Given the description of an element on the screen output the (x, y) to click on. 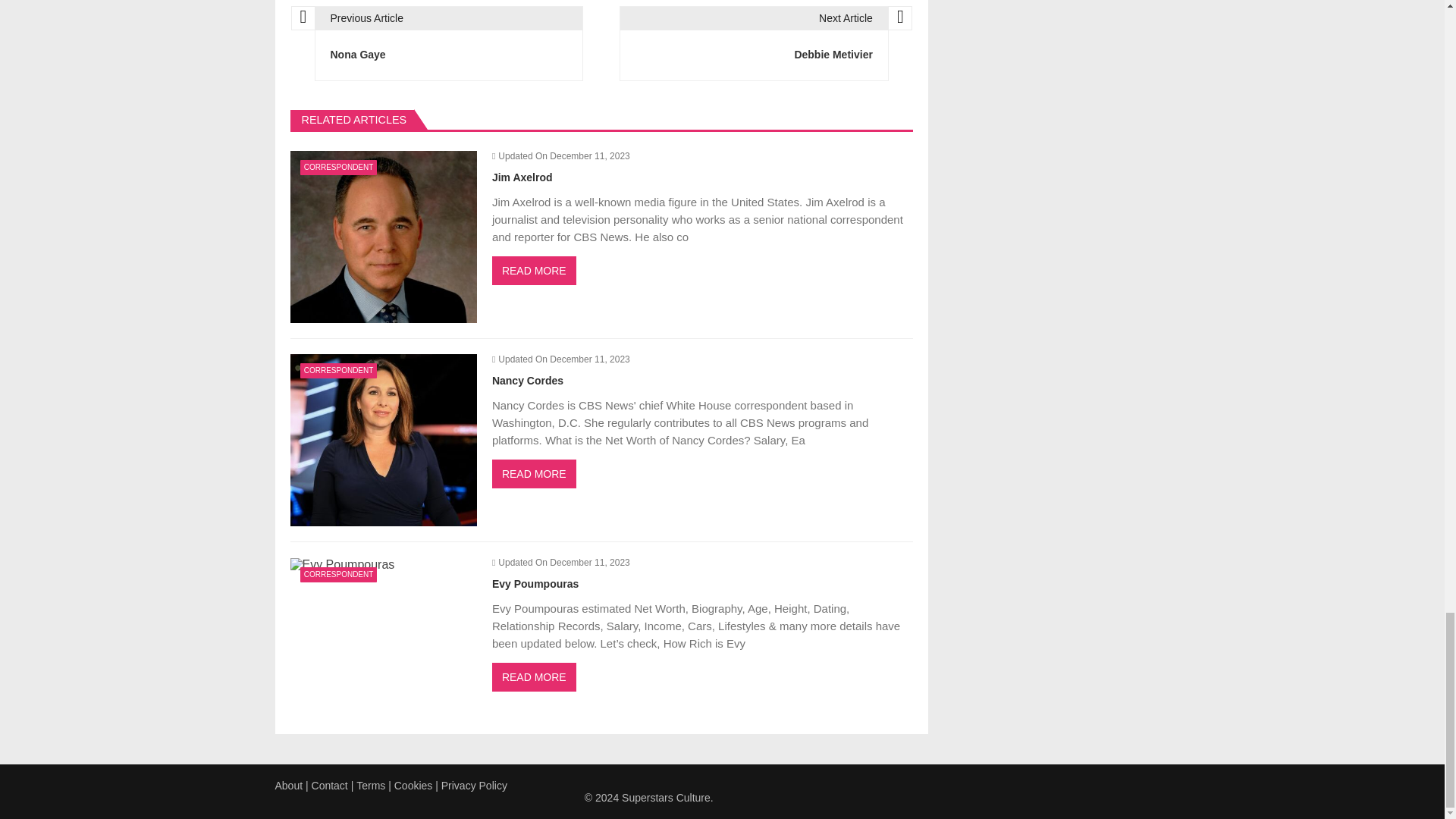
Evy Poumpouras (341, 564)
Jim Axelrod (382, 236)
Nancy Cordes (382, 439)
